Given the description of an element on the screen output the (x, y) to click on. 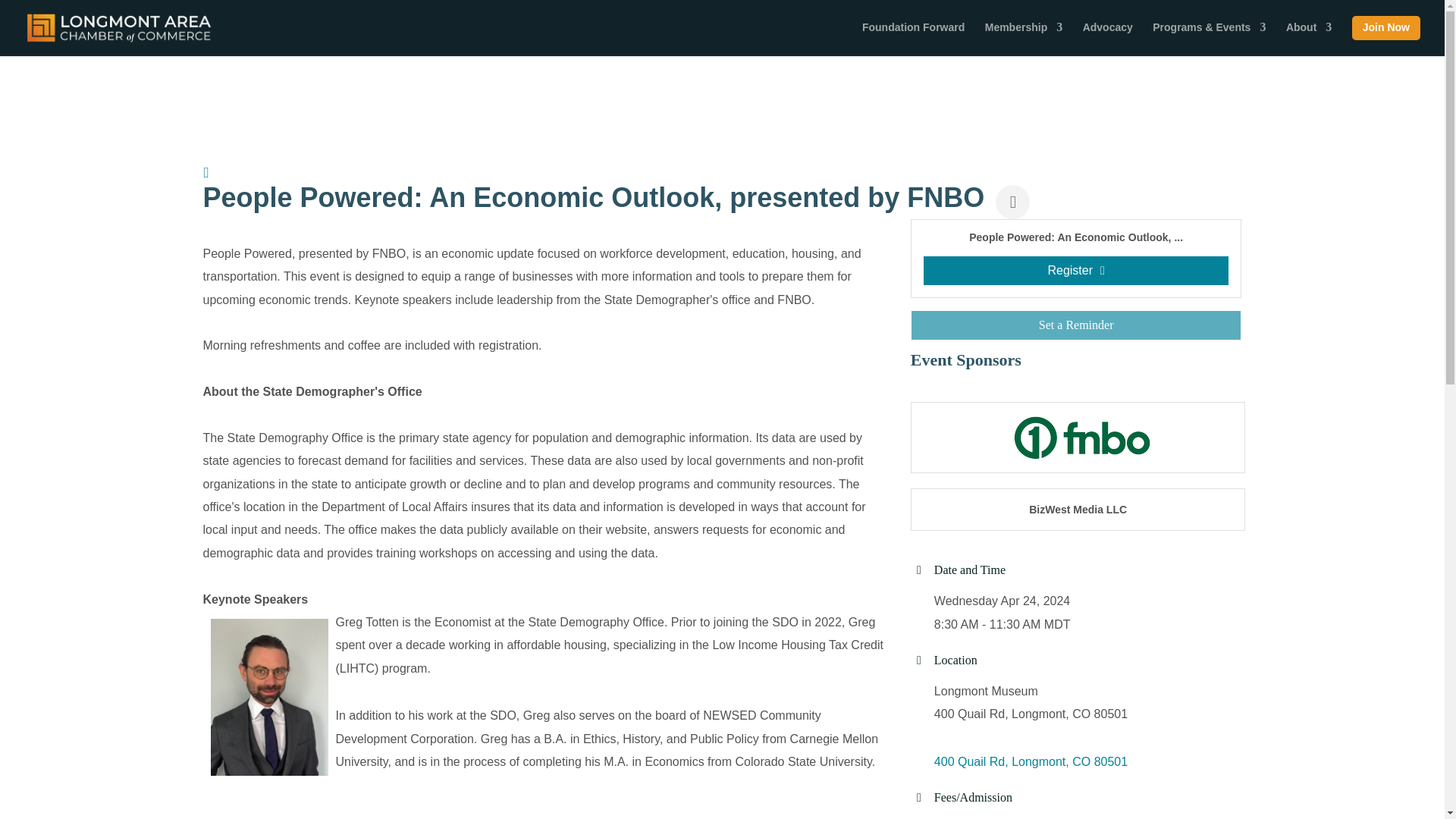
Advocacy (1107, 35)
Foundation Forward (912, 35)
Join Now (1386, 35)
Membership (1023, 35)
About (1308, 35)
